Given the description of an element on the screen output the (x, y) to click on. 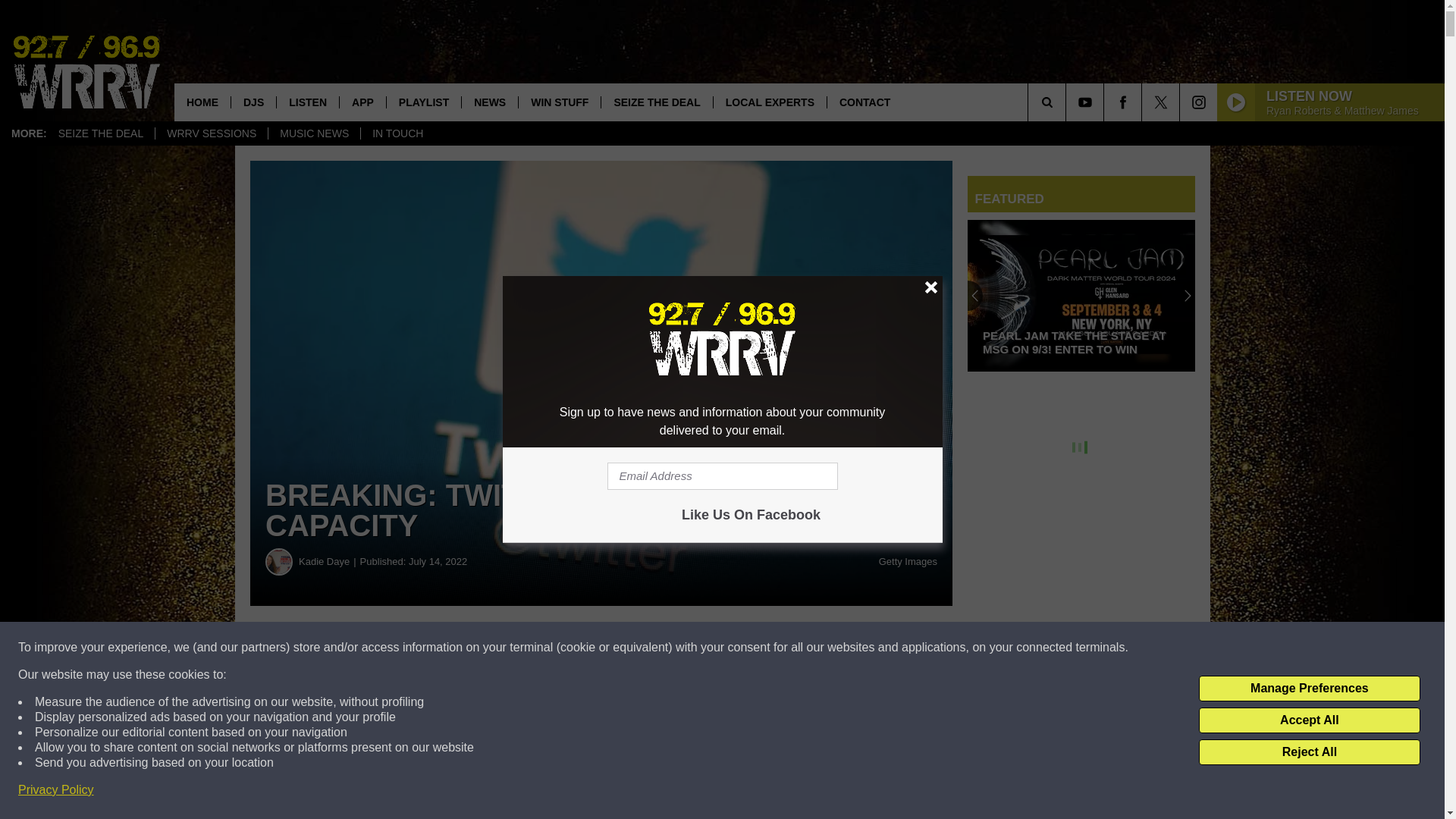
Privacy Policy (55, 789)
IN TOUCH (396, 133)
Accept All (1309, 720)
Share on Facebook (460, 647)
Reject All (1309, 751)
HOME (202, 102)
PLAYLIST (423, 102)
SEIZE THE DEAL (100, 133)
MUSIC NEWS (313, 133)
Email Address (722, 475)
SEARCH (1068, 102)
WRRV SESSIONS (210, 133)
APP (362, 102)
SEARCH (1068, 102)
NEWS (489, 102)
